Given the description of an element on the screen output the (x, y) to click on. 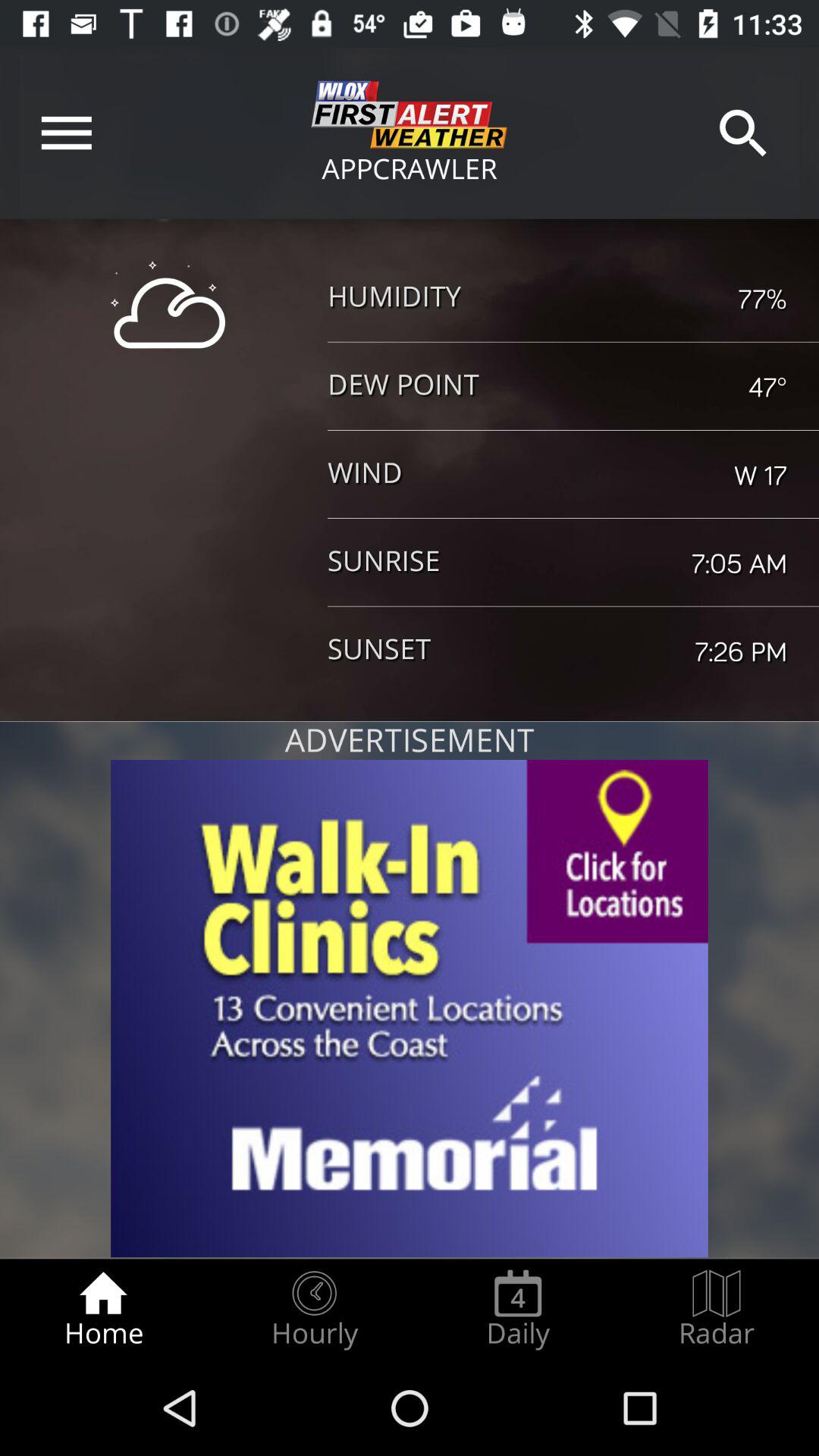
swipe to daily icon (518, 1309)
